Given the description of an element on the screen output the (x, y) to click on. 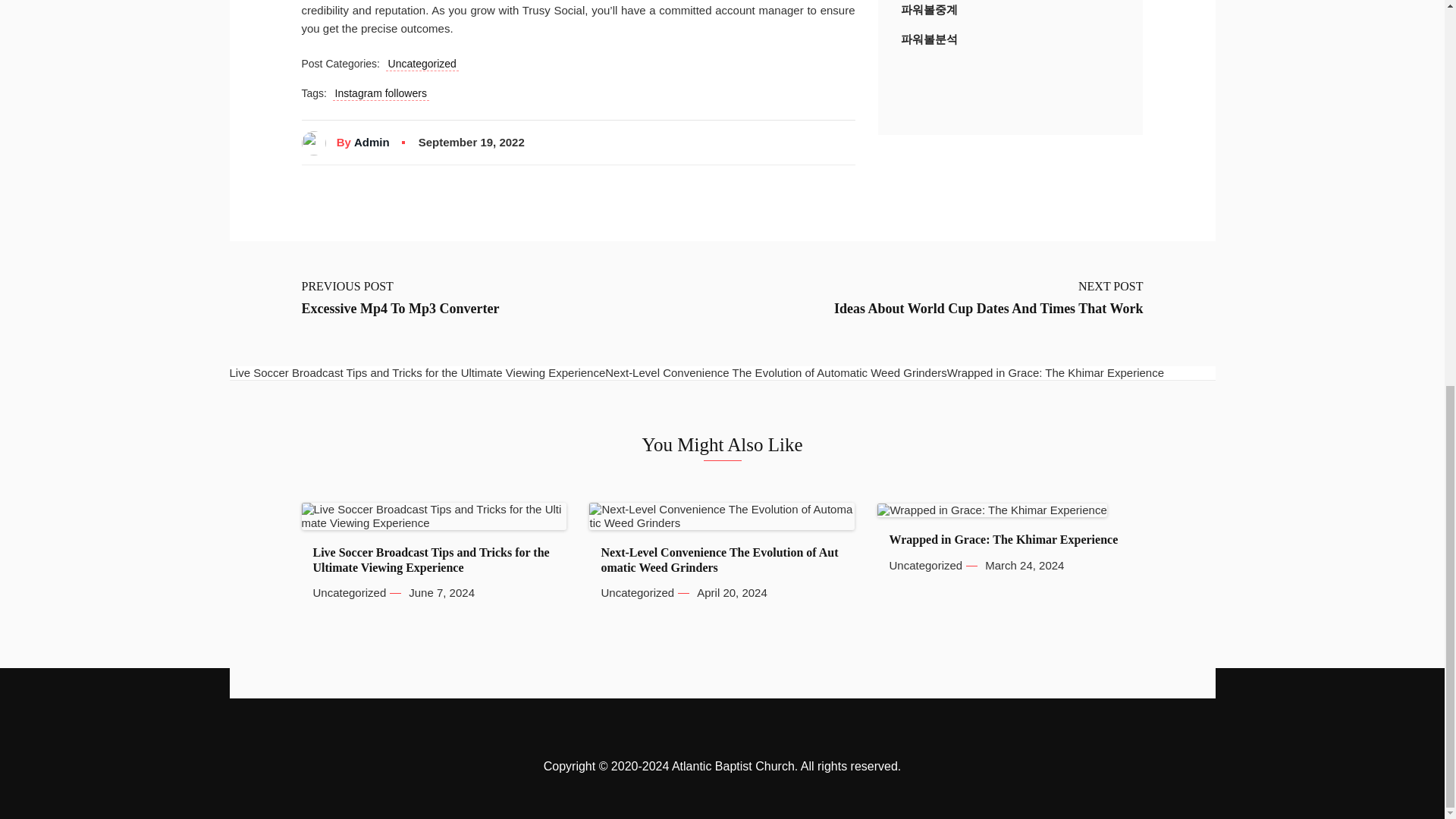
Uncategorized (349, 592)
Ideas About World Cup Dates And Times That Work (988, 309)
June 7, 2024 (441, 592)
Instagram followers (381, 93)
Uncategorized (421, 64)
Admin (371, 142)
Excessive Mp4 To Mp3 Converter (400, 309)
